Given the description of an element on the screen output the (x, y) to click on. 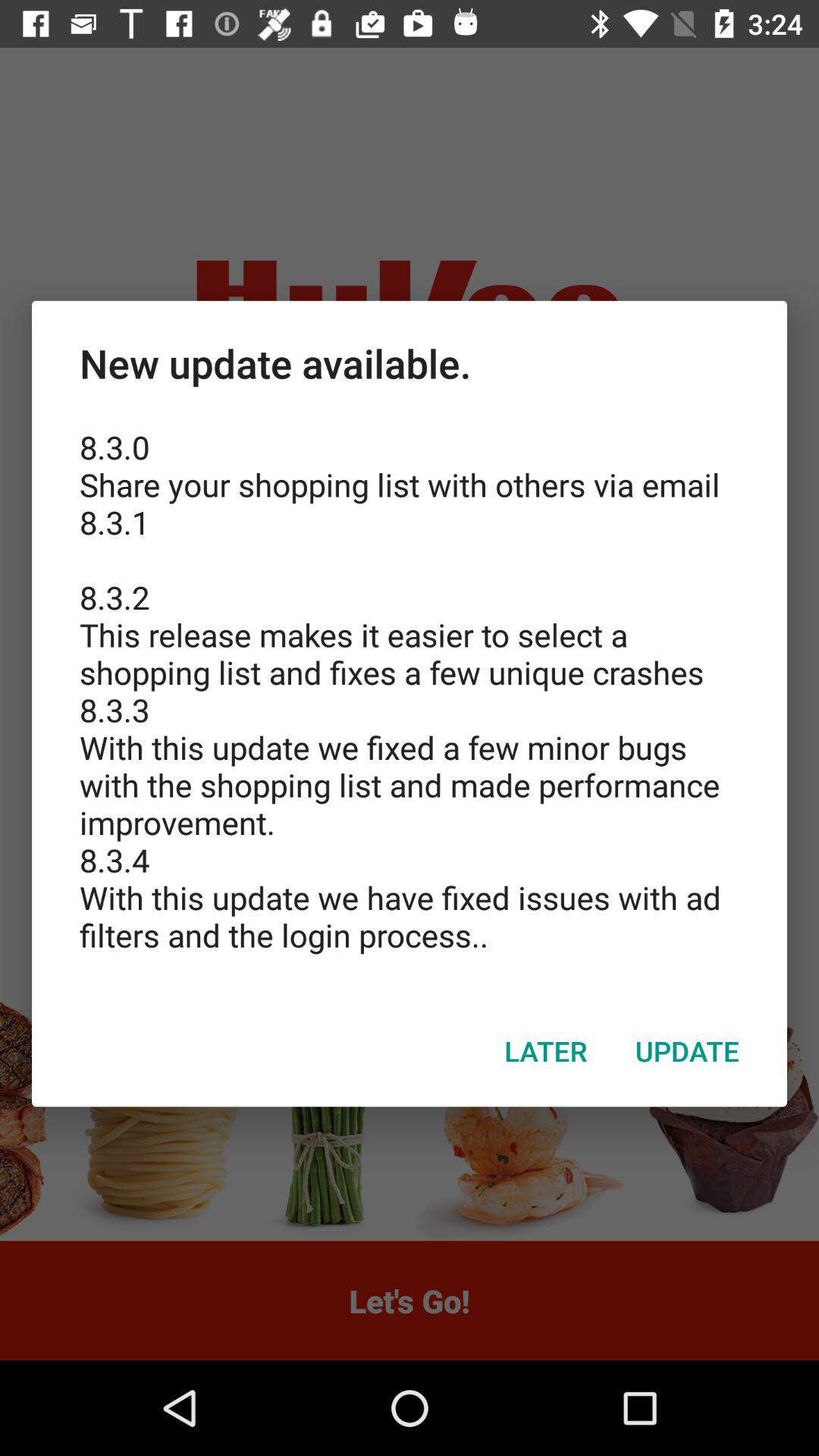
select icon below the 8 3 0 icon (545, 1050)
